Given the description of an element on the screen output the (x, y) to click on. 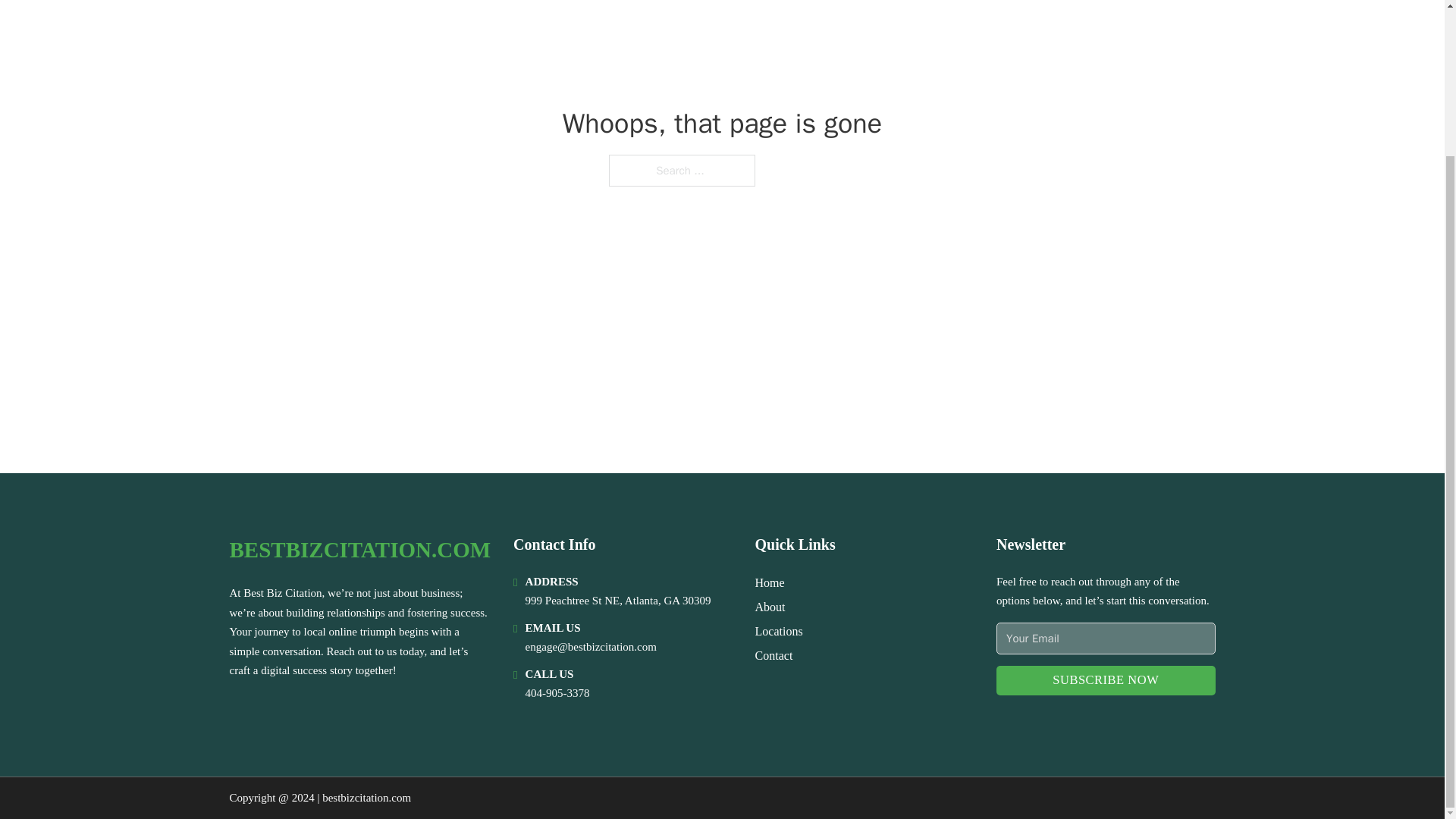
404-905-3378 (557, 693)
Contact (774, 655)
SUBSCRIBE NOW (1104, 680)
Home (769, 582)
BESTBIZCITATION.COM (359, 549)
Locations (779, 630)
About (770, 607)
